Given the description of an element on the screen output the (x, y) to click on. 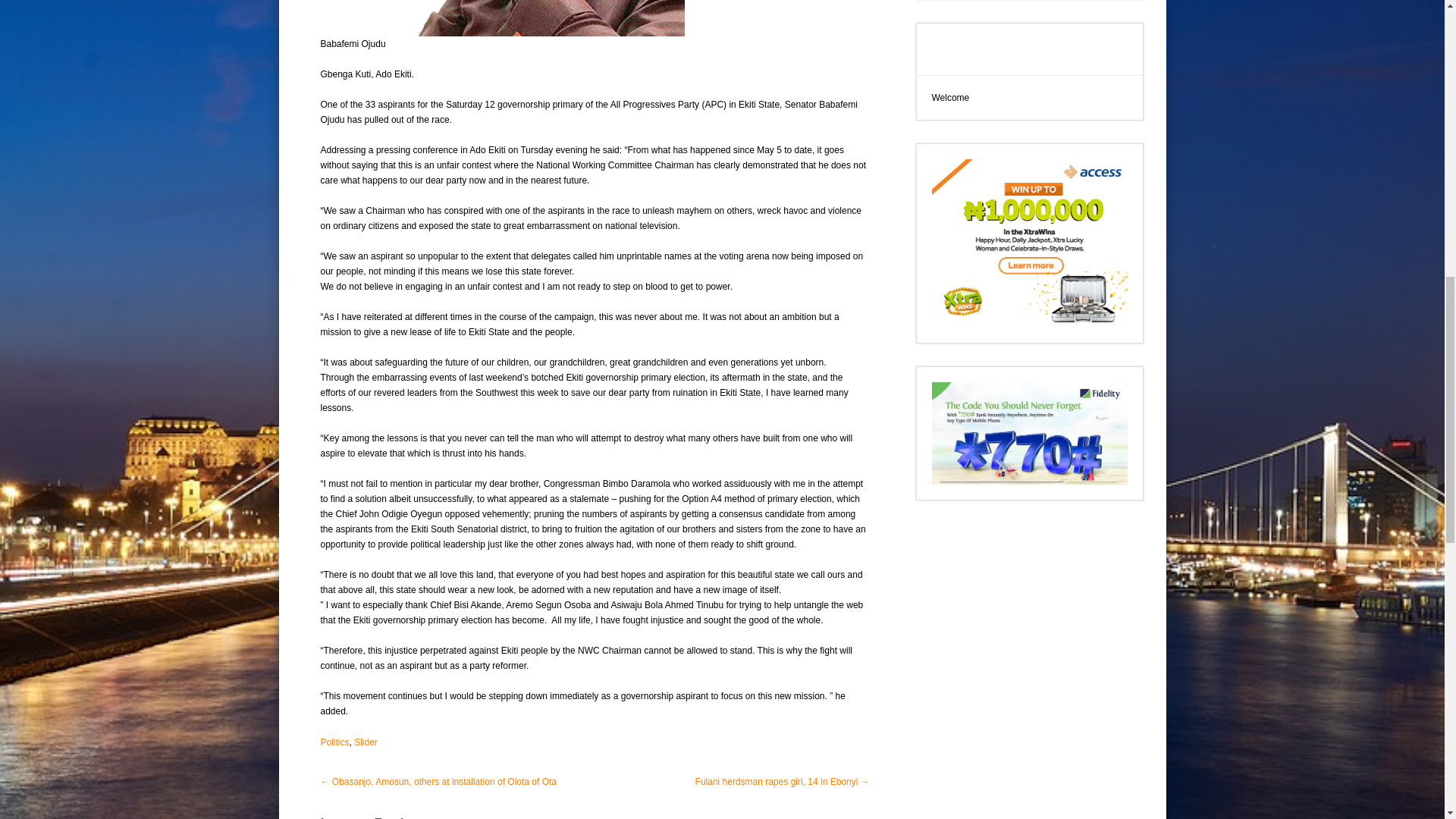
Politics (334, 742)
View all posts in Slider (365, 742)
View all posts in Politics (334, 742)
Slider (365, 742)
